Given the description of an element on the screen output the (x, y) to click on. 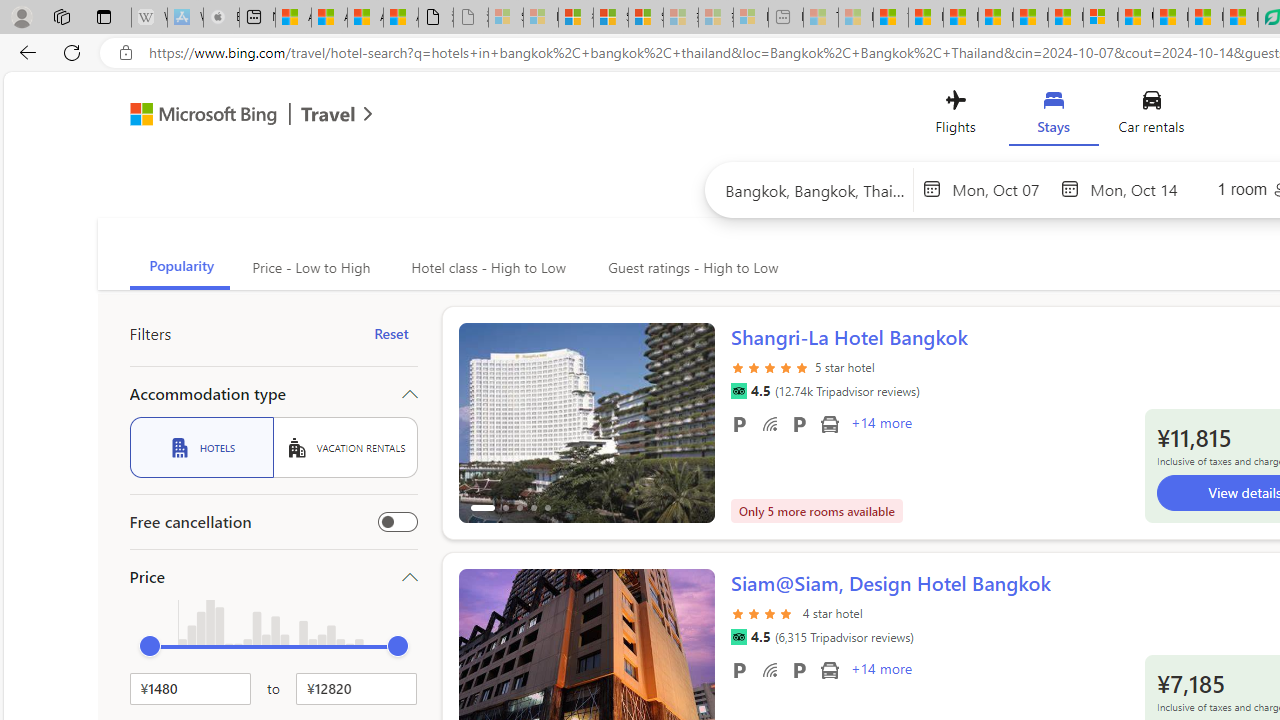
Travel (328, 116)
Accommodation type (273, 393)
Microsoft account | Account Checkup - Sleeping (750, 17)
Slide 1 (586, 422)
Car rentals (1150, 116)
ScrollRight (690, 660)
Free cancellation (397, 521)
Food and Drink - MSN (925, 17)
Start Date (1001, 188)
Airport transportation (829, 669)
Aberdeen, Hong Kong SAR weather forecast | Microsoft Weather (329, 17)
VACATION RENTALS (345, 447)
